Given the description of an element on the screen output the (x, y) to click on. 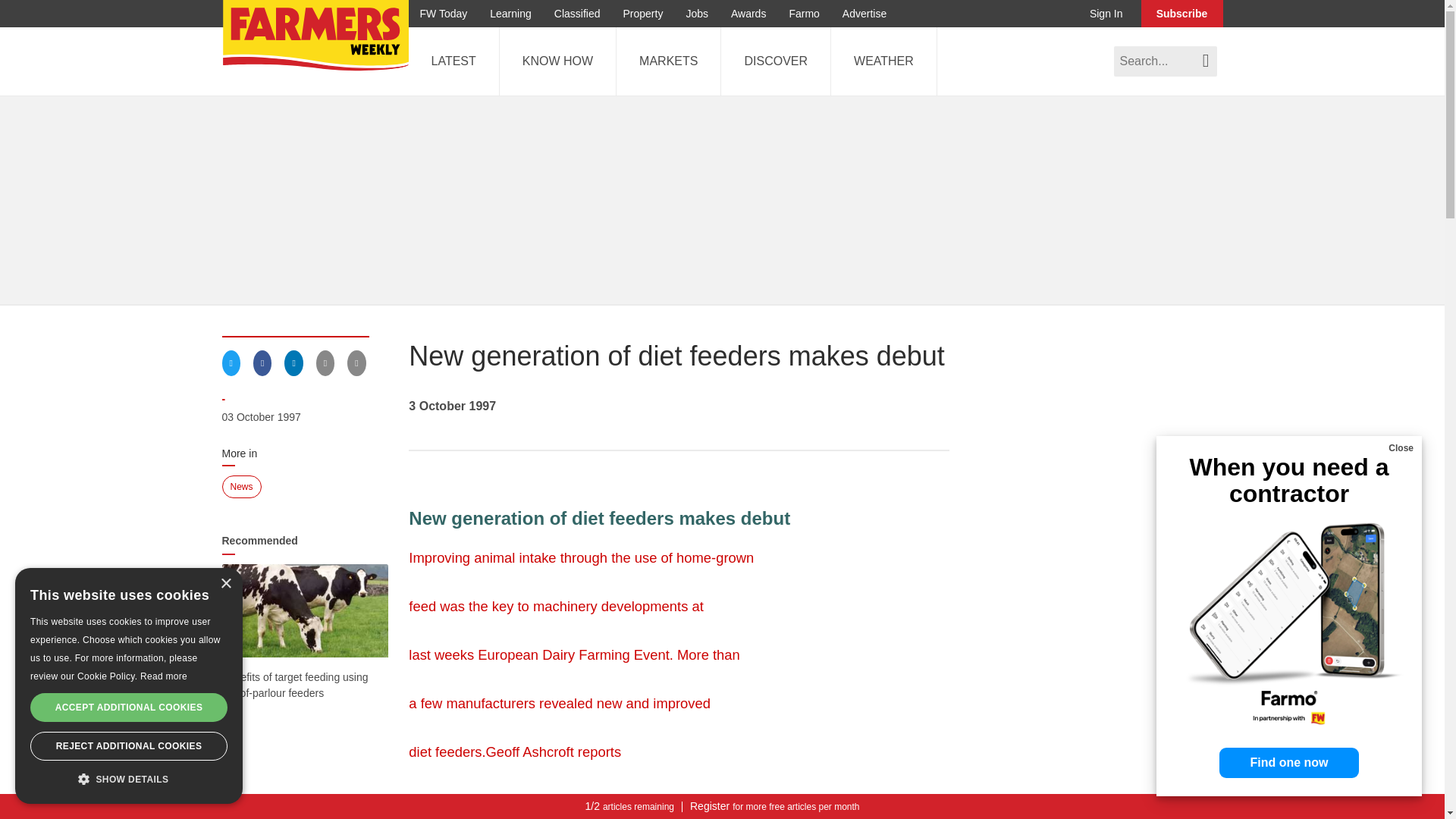
3rd party ad content (679, 814)
